Given the description of an element on the screen output the (x, y) to click on. 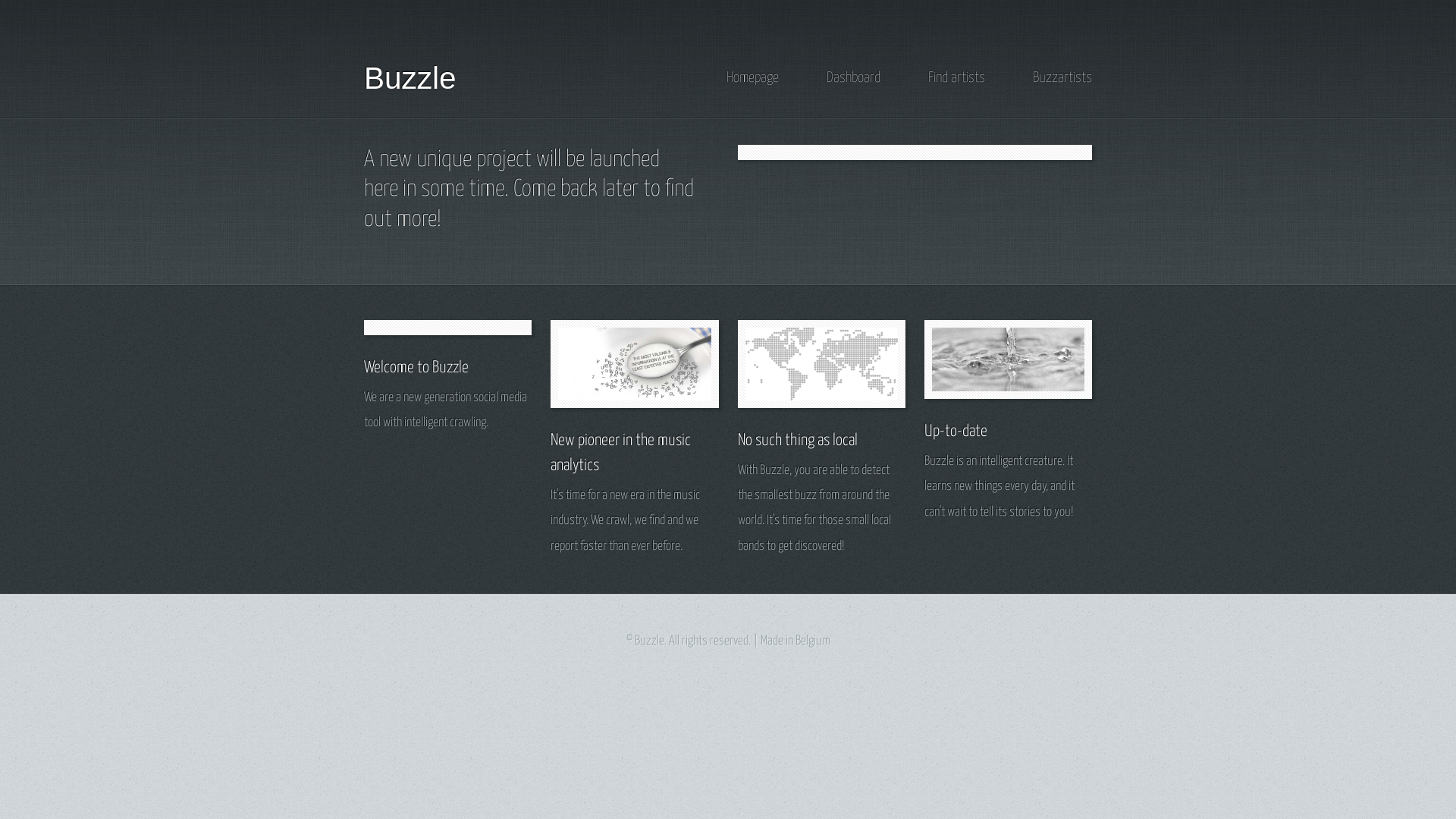
Buzzartists Element type: text (1062, 77)
Dashboard Element type: text (853, 77)
Find artists Element type: text (956, 77)
Homepage Element type: text (752, 77)
Buzzle Element type: text (410, 77)
